Given the description of an element on the screen output the (x, y) to click on. 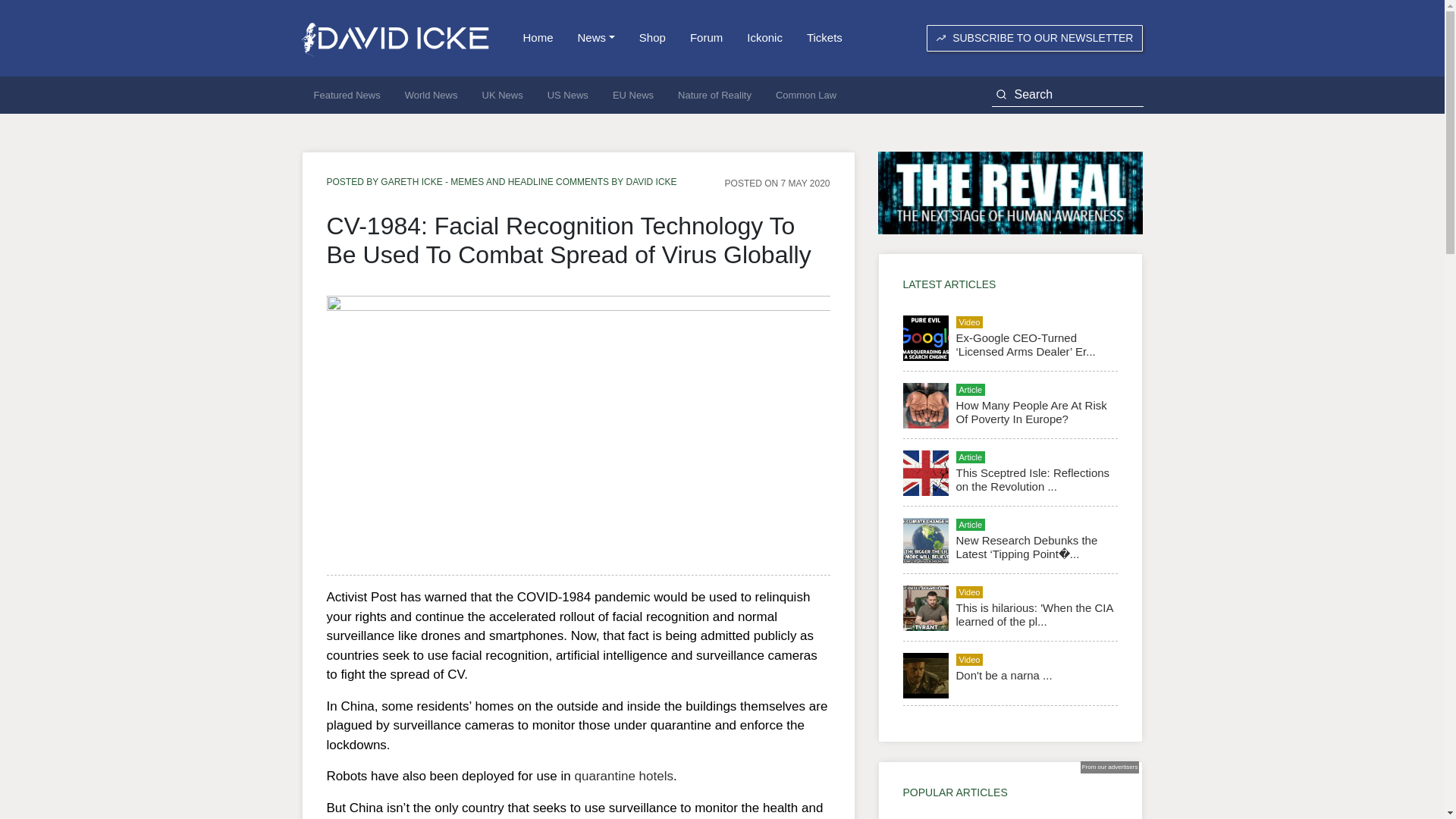
World News (431, 94)
Forum (706, 37)
This Sceptred Isle: Reflections on the Revolution in England (1032, 479)
Home (538, 37)
POSTED ON 7 MAY 2020 (777, 182)
EU News (632, 94)
Don't be a narna ... (1003, 675)
Featured News (347, 94)
Shop (652, 37)
How Many People Are At Risk Of Poverty In Europe? (1030, 411)
